Given the description of an element on the screen output the (x, y) to click on. 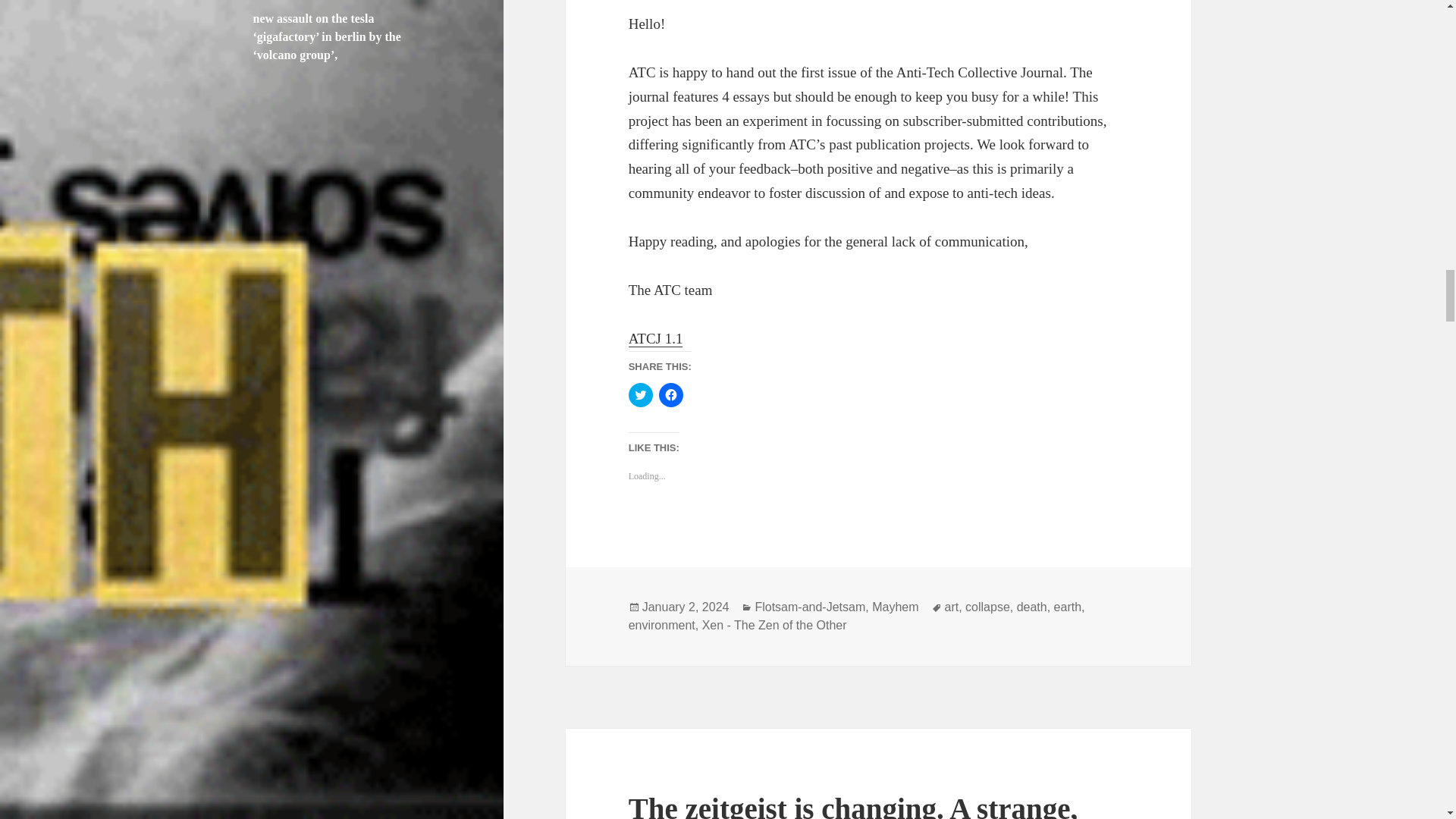
Click to share on Twitter (640, 395)
Click to share on Facebook (670, 395)
